Given the description of an element on the screen output the (x, y) to click on. 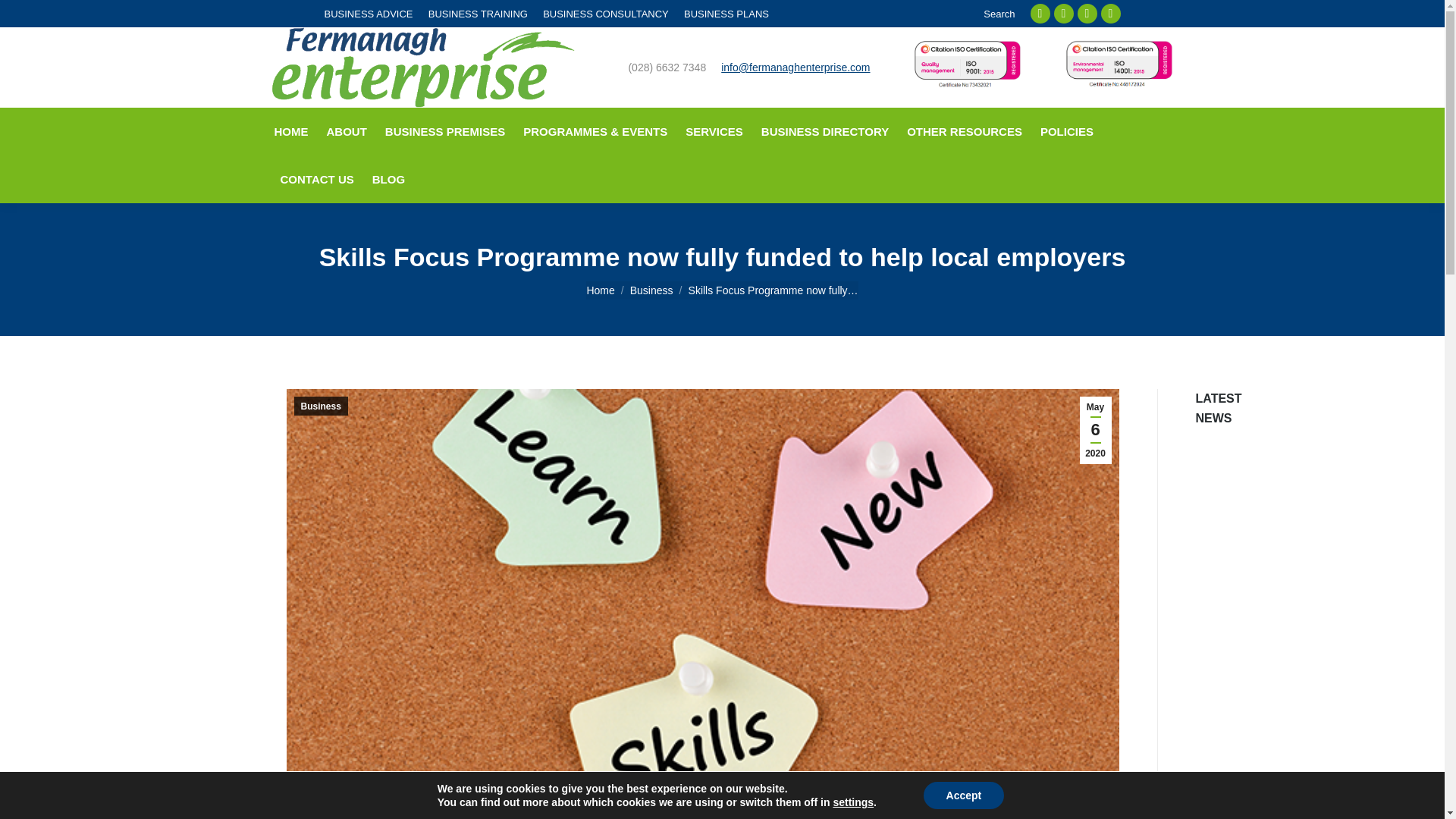
BUSINESS CONSULTANCY (605, 12)
X page opens in new window (1064, 13)
BUSINESS ADVICE (368, 12)
Facebook page opens in new window (1039, 13)
BUSINESS PREMISES (444, 131)
Business (651, 289)
BUSINESS PLANS (726, 12)
Instagram page opens in new window (1110, 13)
Linkedin page opens in new window (1087, 13)
Linkedin page opens in new window (1087, 13)
ABOUT (346, 131)
SERVICES (713, 131)
Go! (24, 16)
HOME (290, 131)
Search (996, 12)
